Given the description of an element on the screen output the (x, y) to click on. 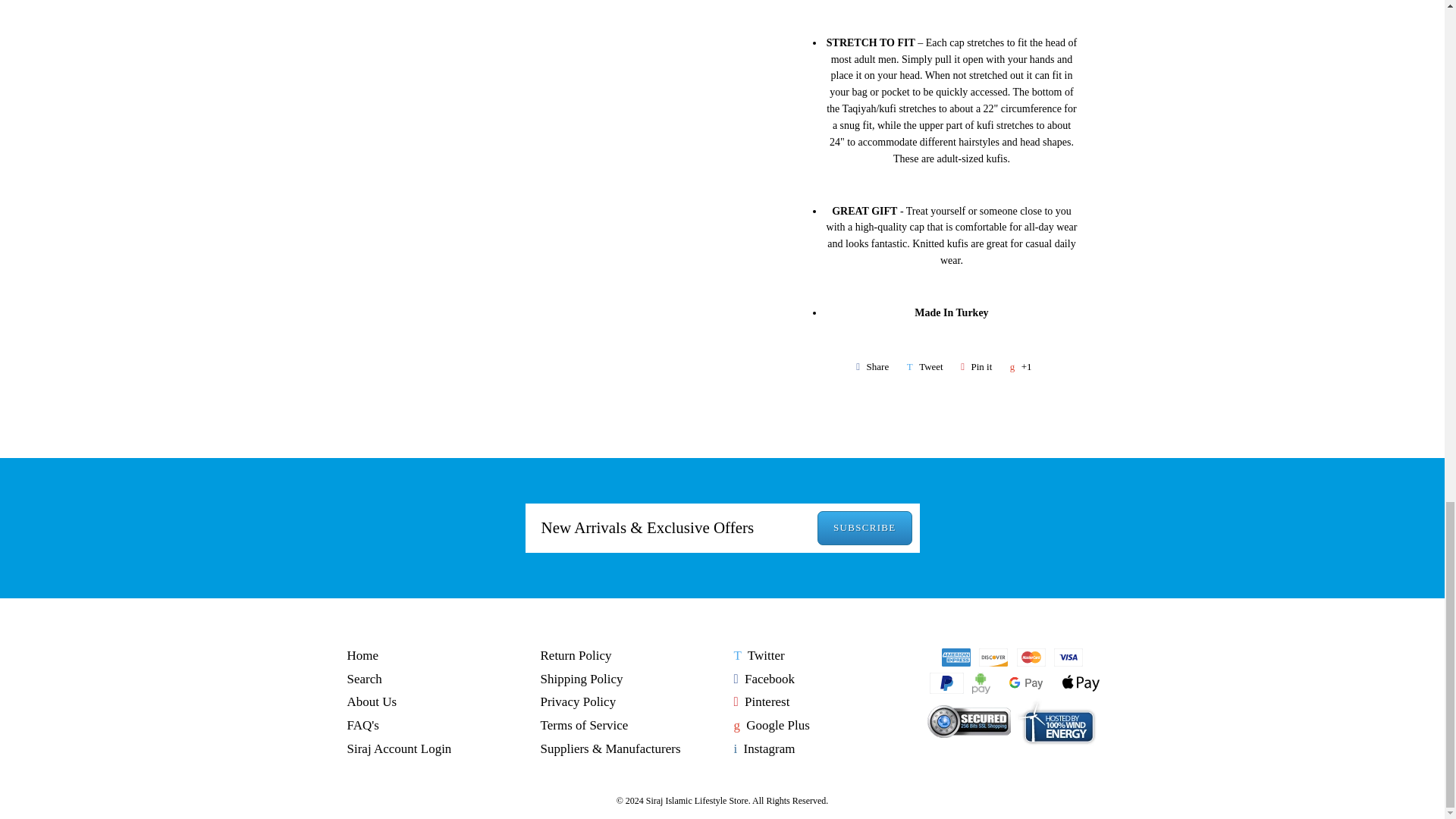
Share (872, 366)
Siraj Islamic Lifestyle Store on Instagram (763, 748)
Siraj Islamic Lifestyle Store on Twitter (758, 655)
Siraj Islamic Lifestyle Store on Pinterest (761, 701)
Siraj Islamic Lifestyle Store on Facebook (763, 678)
Tweet (924, 366)
Siraj Islamic Lifestyle Store on Google Plus (771, 725)
Pin it (975, 366)
